Given the description of an element on the screen output the (x, y) to click on. 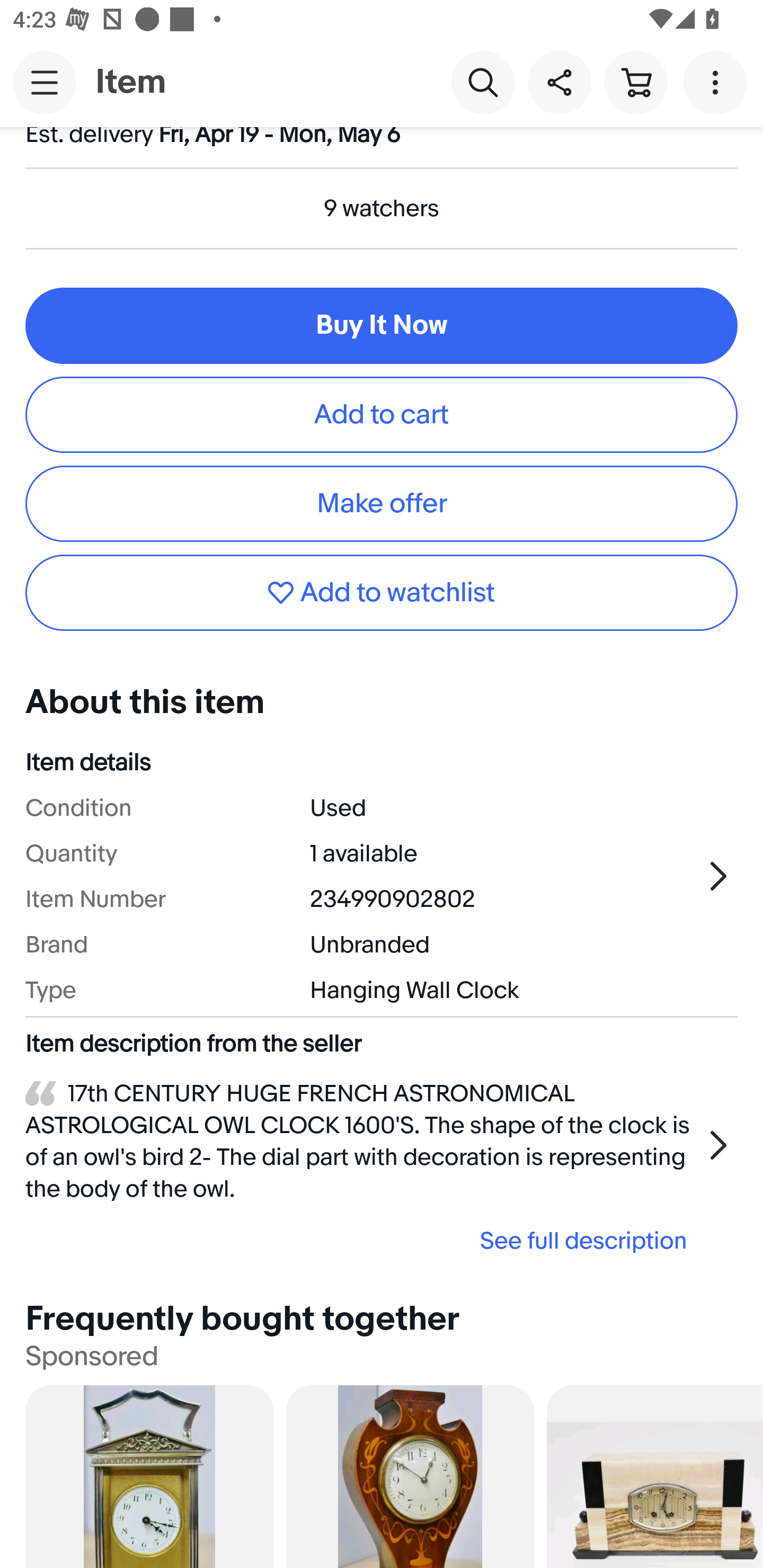
Main navigation, open (44, 82)
Search (482, 81)
Share this item (559, 81)
Cart button shopping cart (635, 81)
More options (718, 81)
Buy It Now (381, 324)
Add to cart (381, 414)
Make offer (381, 503)
Add to watchlist (381, 592)
See full description (362, 1240)
